Given the description of an element on the screen output the (x, y) to click on. 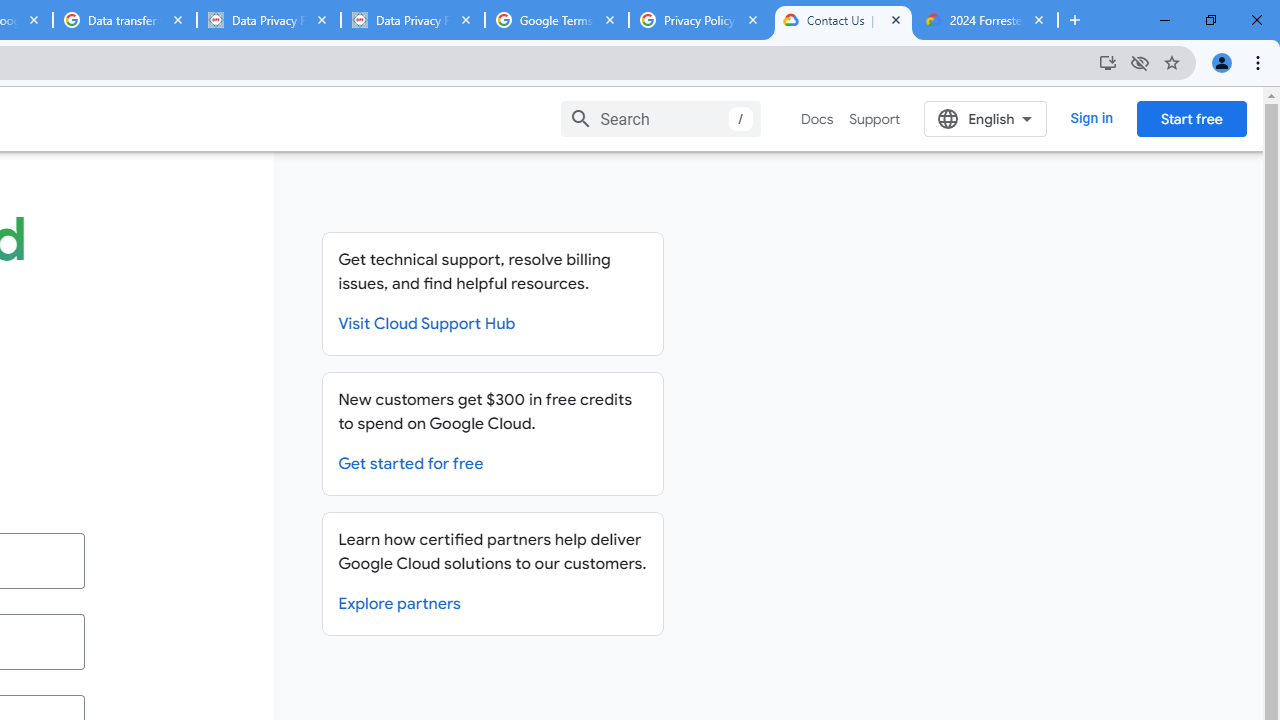
Start free (1191, 118)
Install Google Cloud (1107, 62)
Data Privacy Framework (412, 20)
Data Privacy Framework (268, 20)
